Given the description of an element on the screen output the (x, y) to click on. 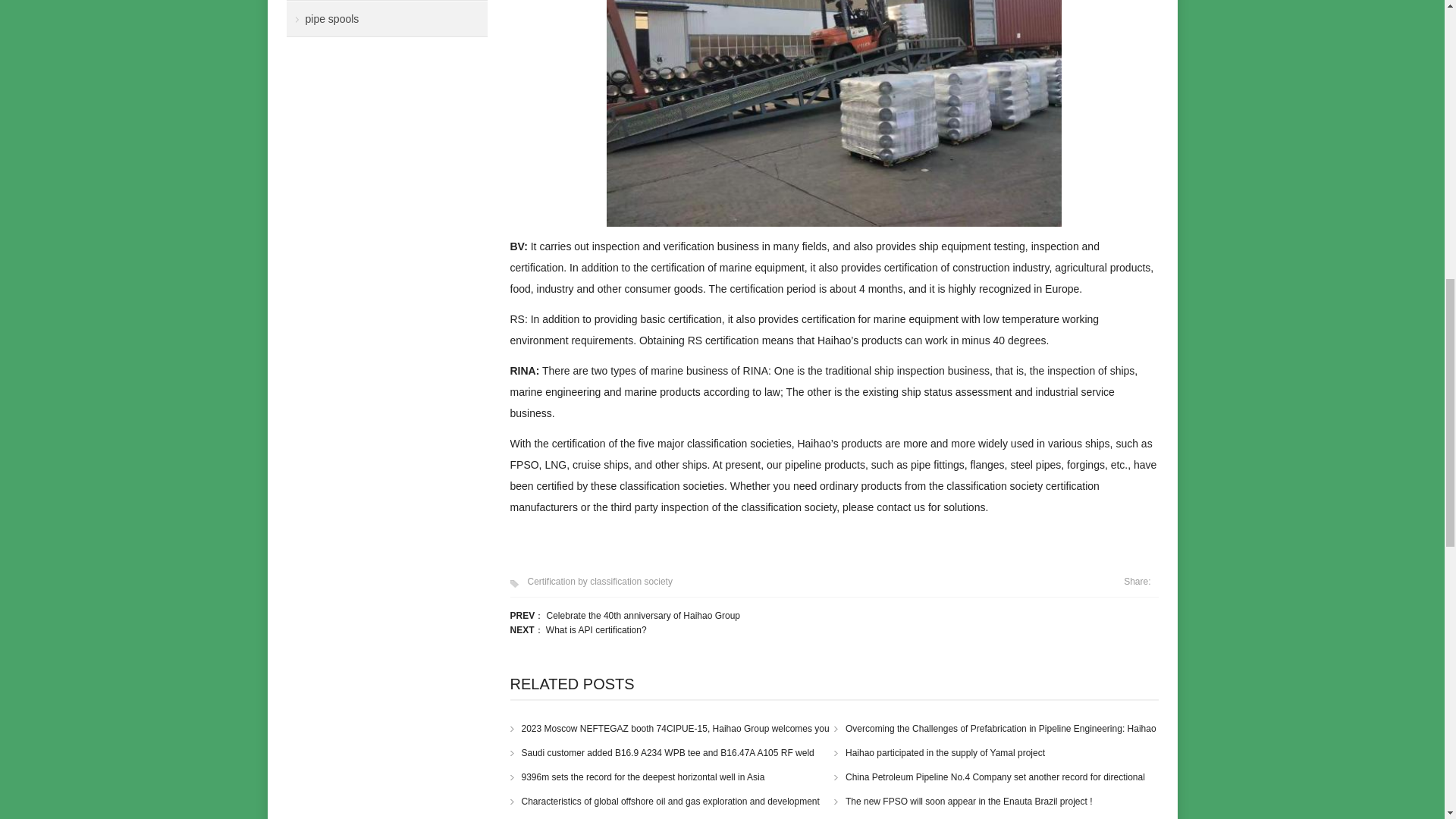
Haihao participated in the supply of Yamal project (939, 752)
Celebrate the 40th anniversary of Haihao Group (644, 615)
The new FPSO will soon appear in the Enauta Brazil project ! (963, 801)
What is API certification? (596, 629)
Certification by classification society (596, 581)
